Given the description of an element on the screen output the (x, y) to click on. 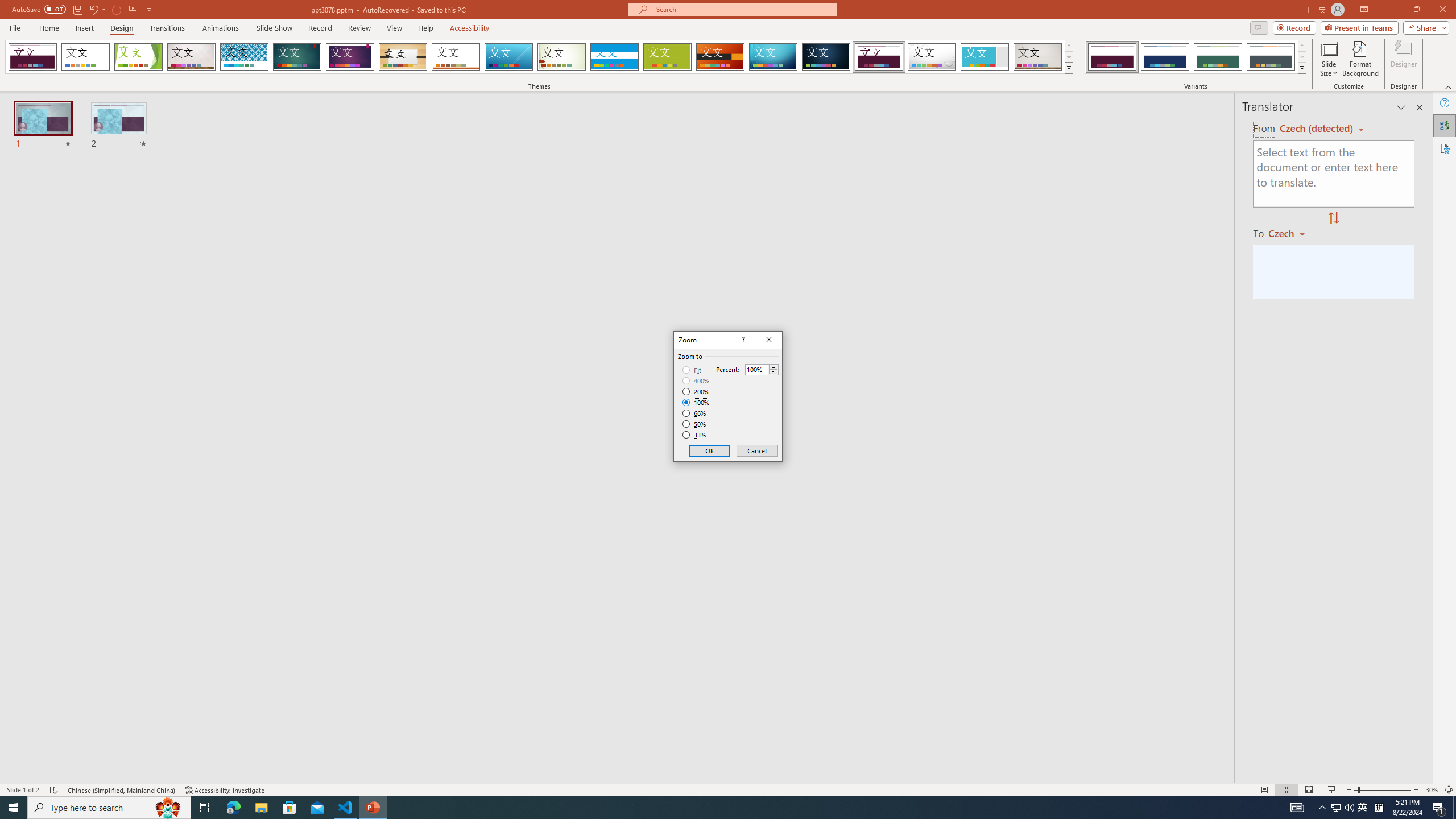
Close (769, 339)
View (1335, 807)
Task View (395, 28)
Insert (204, 807)
